Given the description of an element on the screen output the (x, y) to click on. 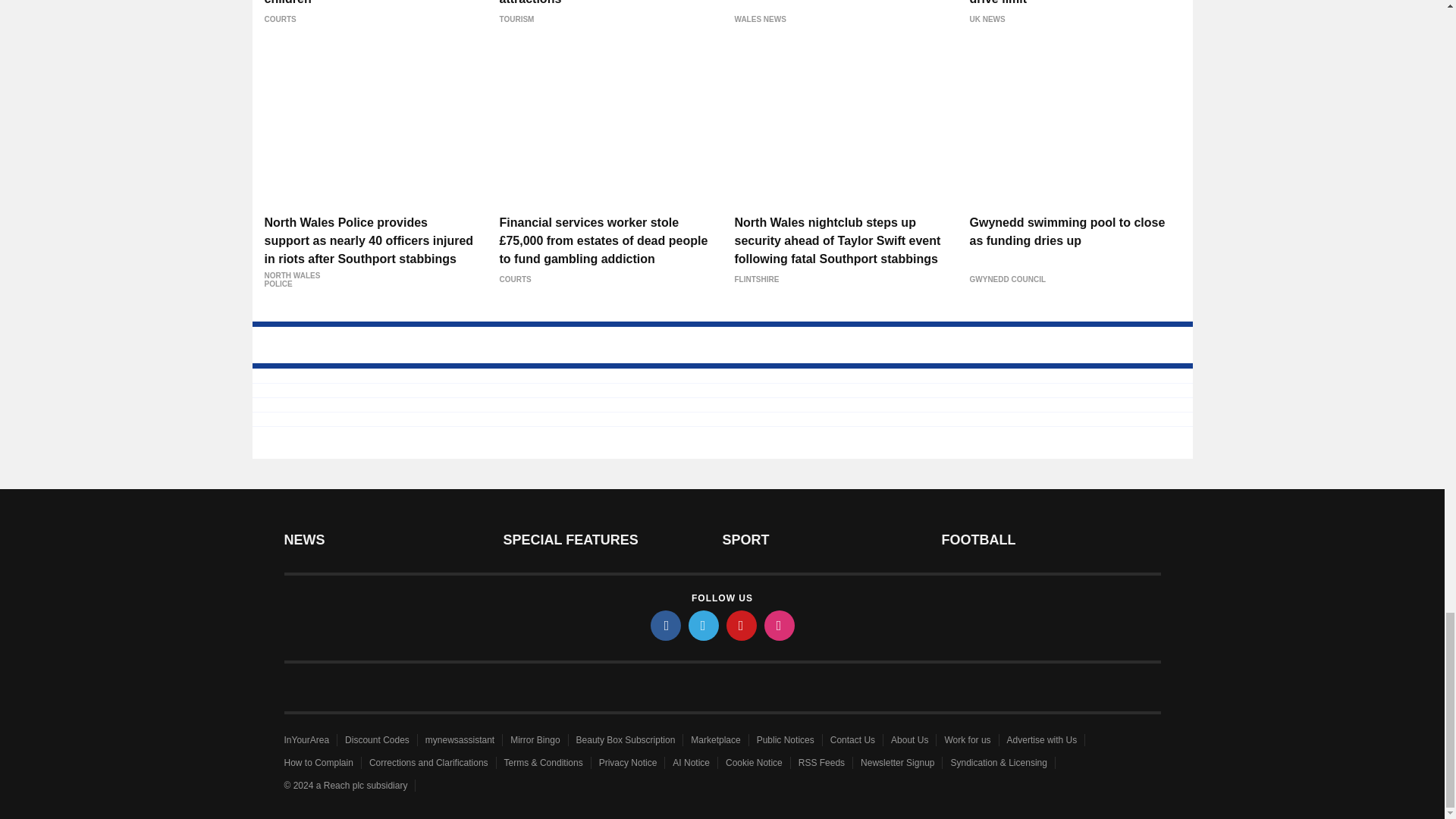
pinterest (741, 625)
facebook (665, 625)
twitter (703, 625)
instagram (779, 625)
